Given the description of an element on the screen output the (x, y) to click on. 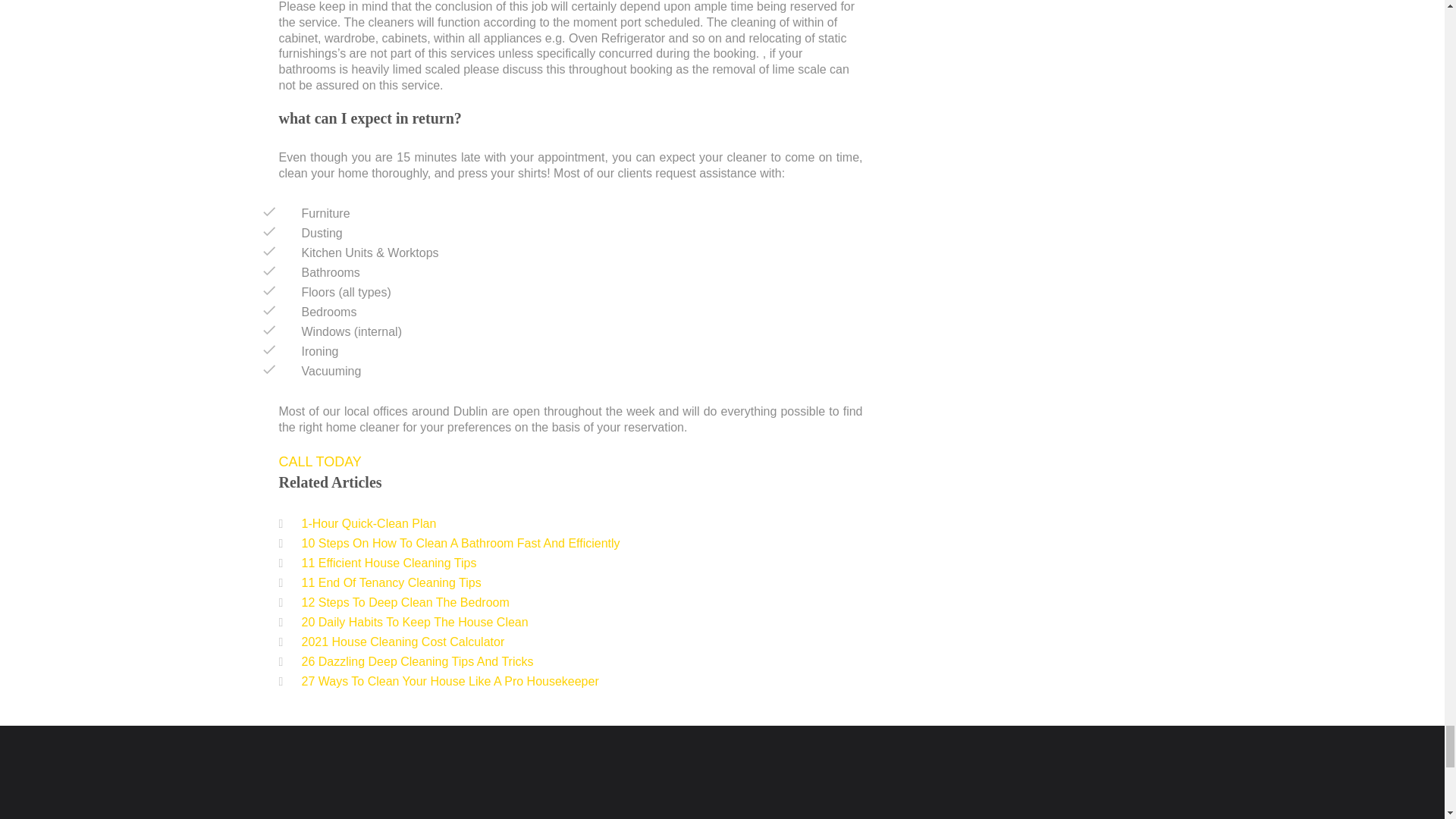
27 Ways To Clean Your House Like A Pro Housekeeper (449, 680)
1-Hour Quick-Clean Plan (368, 522)
26 Dazzling Deep Cleaning Tips And Tricks (417, 661)
20 Daily Habits To Keep The House Clean (414, 621)
12 Steps To Deep Clean The Bedroom (405, 602)
2021 House Cleaning Cost Calculator (403, 641)
10 Steps On How To Clean A Bathroom Fast And Efficiently (460, 543)
11 Efficient House Cleaning Tips (389, 562)
11 End Of Tenancy Cleaning Tips (391, 582)
